Given the description of an element on the screen output the (x, y) to click on. 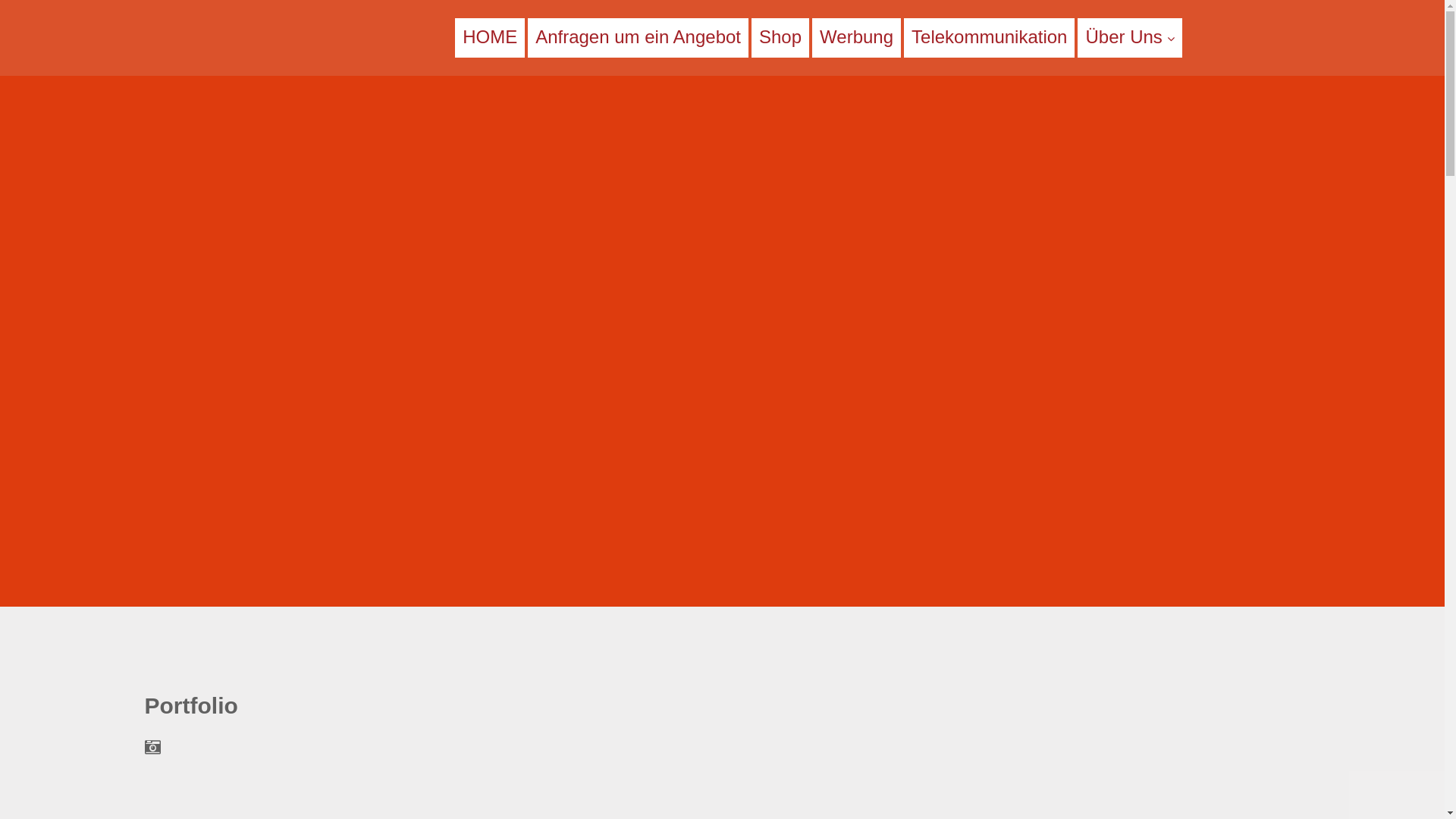
Werbung Element type: text (856, 36)
HOME Element type: text (489, 36)
  Element type: text (234, 36)
Anfragen um ein Angebot Element type: text (637, 36)
Shop Element type: text (780, 36)
Telekommunikation Element type: text (988, 36)
